Given the description of an element on the screen output the (x, y) to click on. 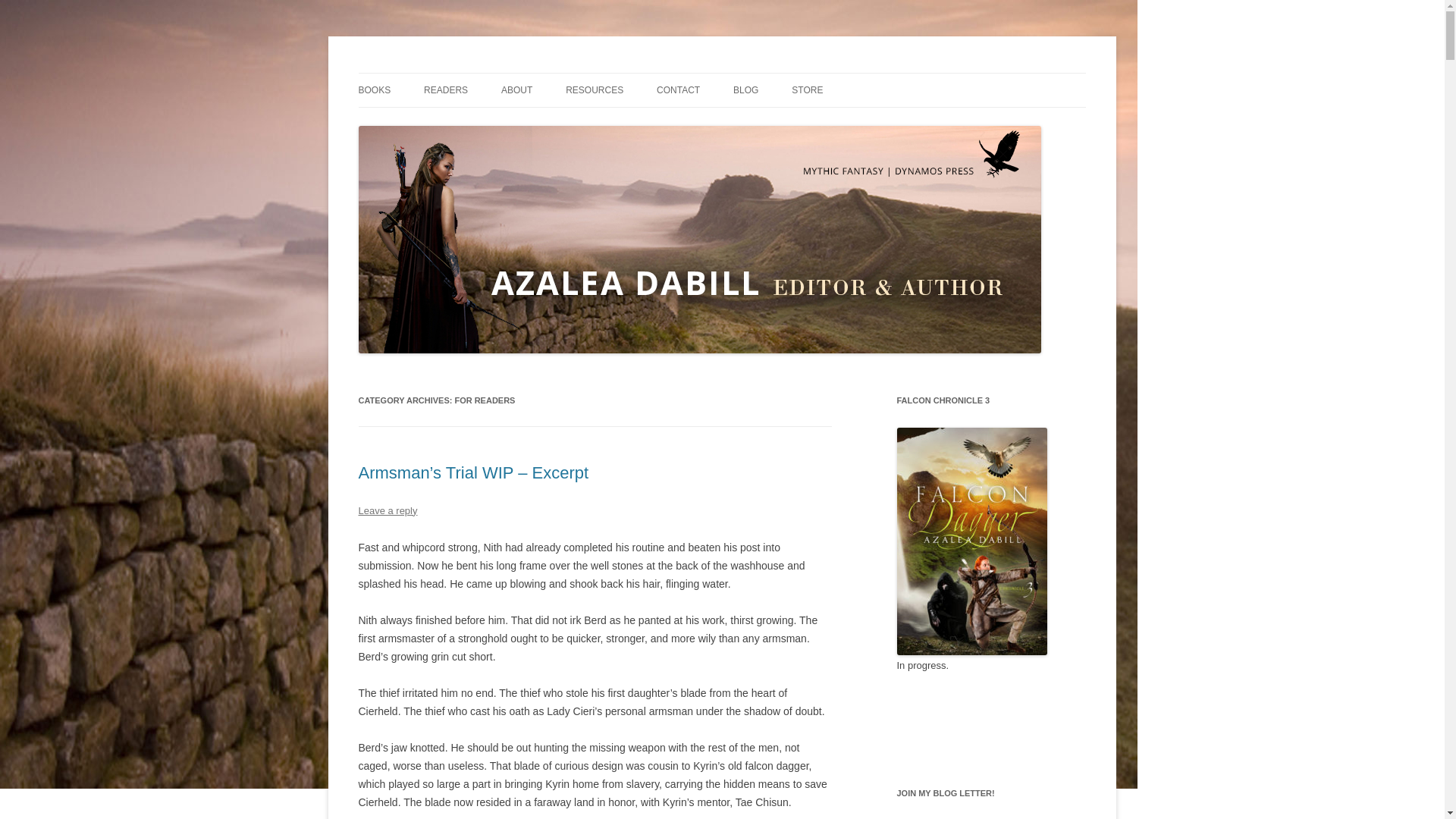
STORE (807, 90)
ABOUT (516, 90)
32 FREE HOW-TO WRITE FANTASY PDFS (641, 131)
PRIVACY POLICY (732, 122)
CONTACT (678, 90)
BOOKS (374, 90)
RESOURCES (594, 90)
Leave a reply (387, 510)
